Given the description of an element on the screen output the (x, y) to click on. 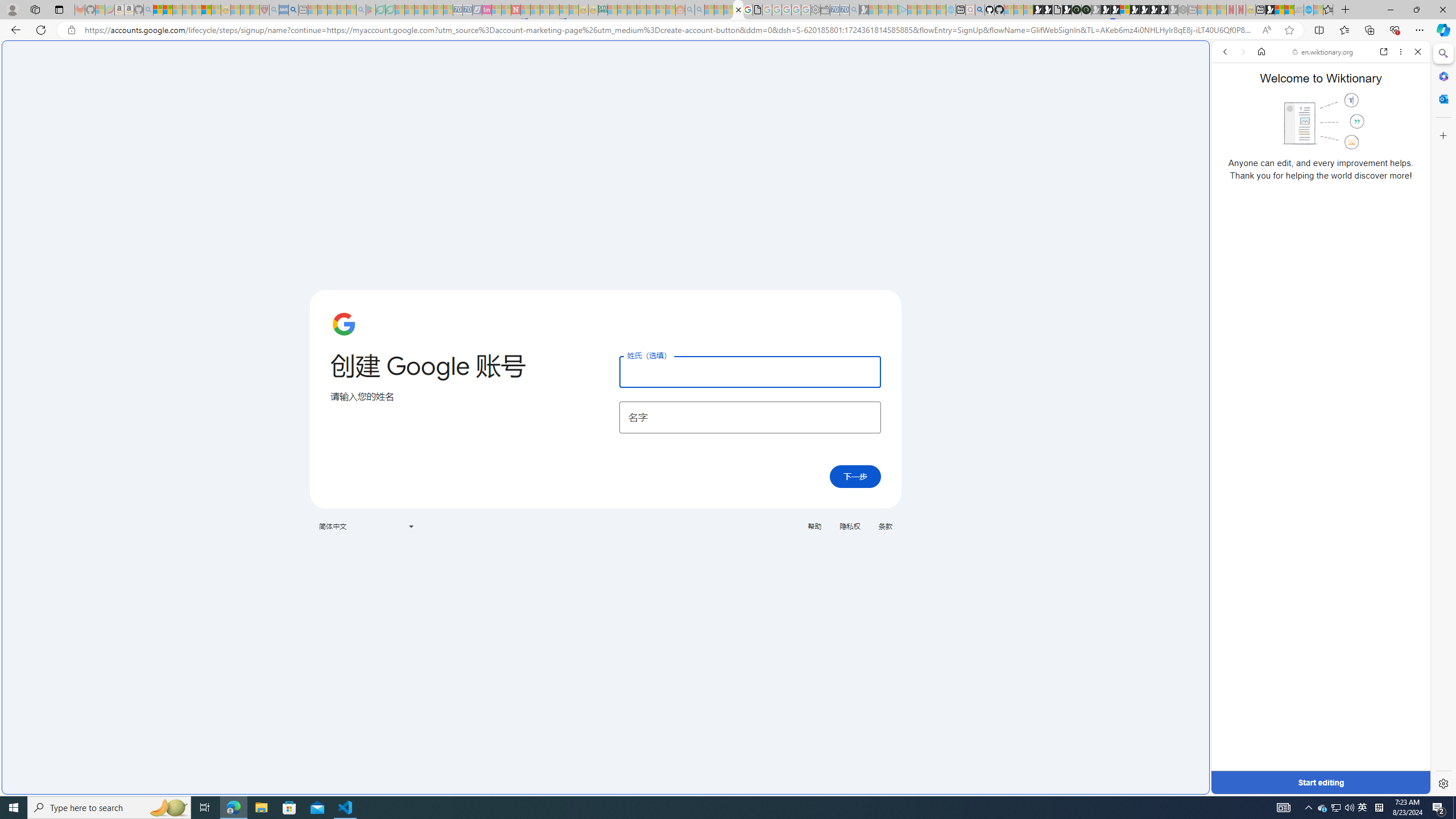
utah sues federal government - Search (292, 9)
